Given the description of an element on the screen output the (x, y) to click on. 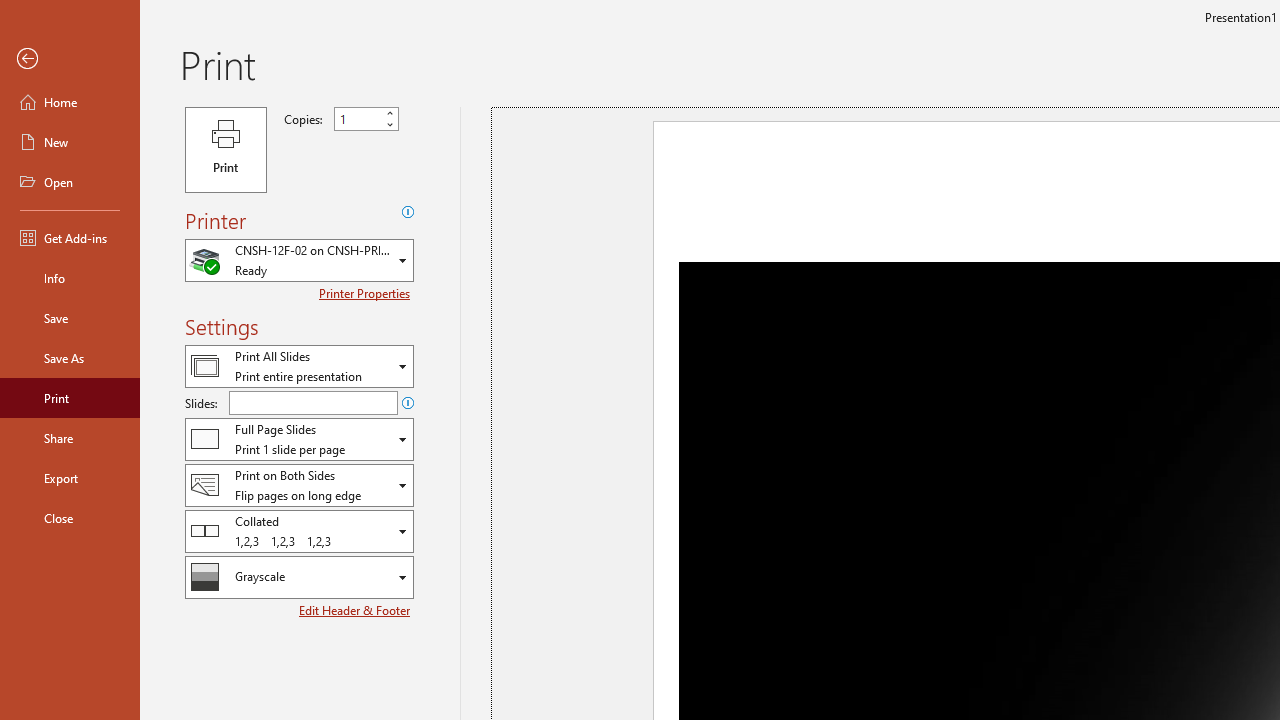
Back (69, 59)
Printer Properties (365, 293)
Info (69, 277)
Slides and Handouts (299, 439)
Copies (366, 119)
Get Add-ins (69, 237)
Color/Grayscale (299, 577)
Export (69, 477)
Print (226, 149)
New (69, 141)
